Given the description of an element on the screen output the (x, y) to click on. 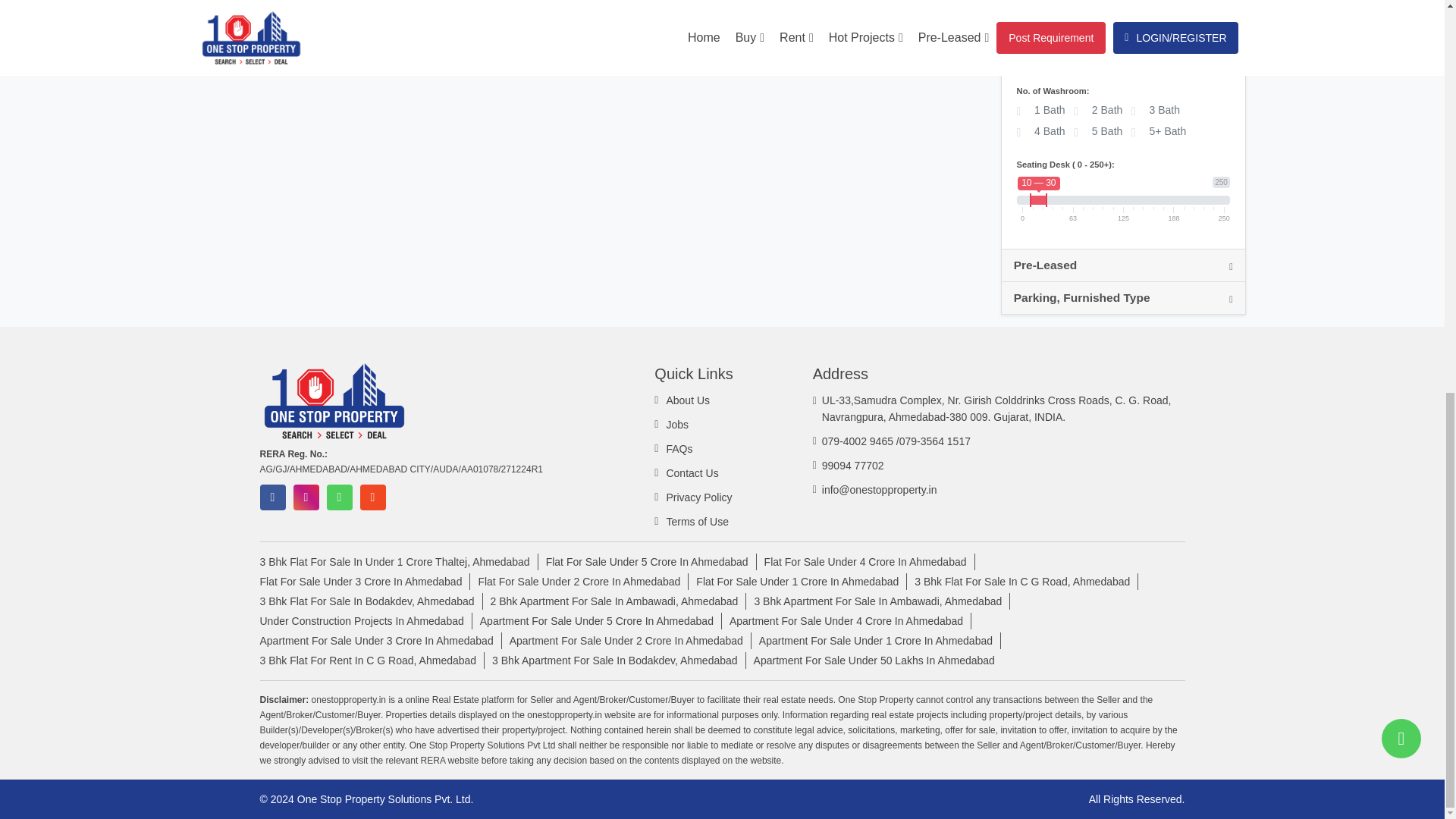
Flat For Sale Under 5 Crore In Ahmedabad (651, 561)
Flat For Sale Under 2 Crore In Ahmedabad (582, 581)
Apartment For Sale Under 1 Crore In Ahmedabad (879, 640)
Apartment For Sale Under 4 Crore In Ahmedabad (850, 620)
Flat For Sale Under 4 Crore In Ahmedabad (869, 561)
Apartment For Sale Under 2 Crore In Ahmedabad (630, 640)
Flat For Sale Under 1 Crore In Ahmedabad (801, 581)
Flat For Sale Under 3 Crore In Ahmedabad (364, 581)
Apartment For Sale Under 5 Crore In Ahmedabad (601, 620)
3 Bhk Apartment For Sale In Ambawadi, Ahmedabad (882, 600)
